Given the description of an element on the screen output the (x, y) to click on. 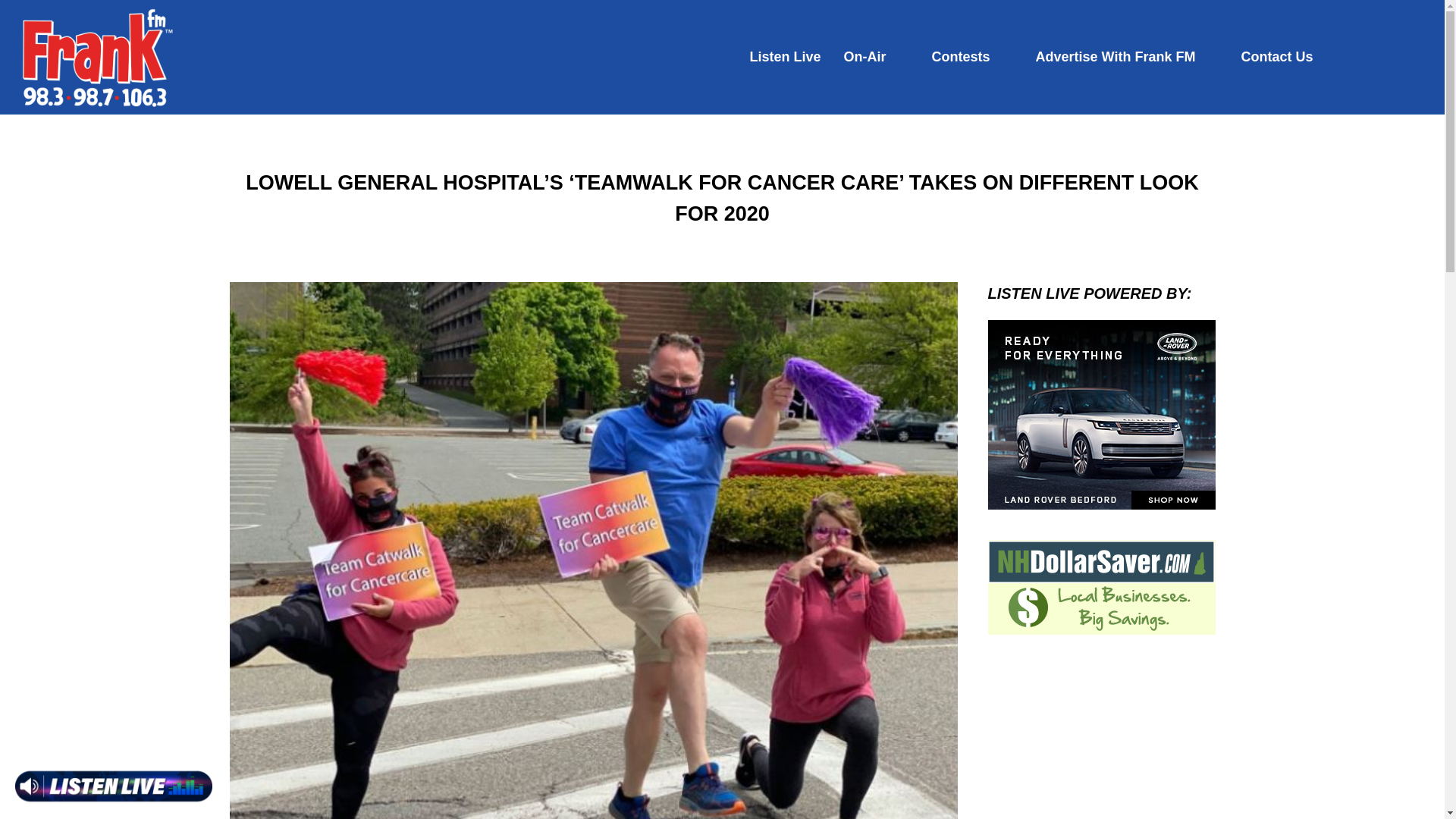
Contests (960, 57)
Contact Us (1276, 57)
Advertise With Frank FM (1115, 57)
Listen Live (785, 57)
On-Air (865, 57)
